Given the description of an element on the screen output the (x, y) to click on. 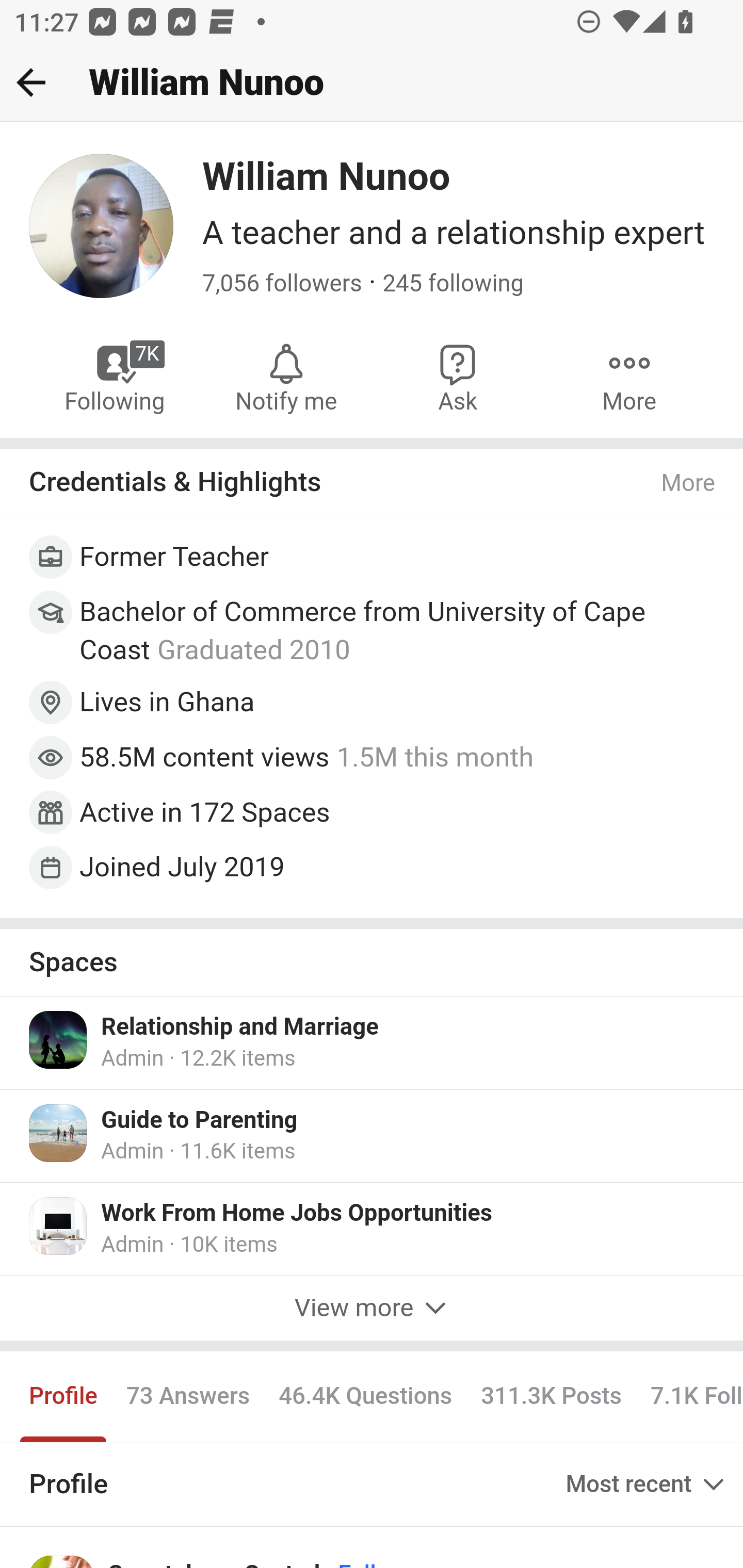
Back (30, 82)
7,056 followers (282, 284)
245 following (452, 284)
Following William Nunoo 7K Following (115, 376)
Notify me (285, 376)
Ask (458, 376)
More (628, 376)
More (688, 482)
Icon for Relationship and Marriage (58, 1039)
Relationship and Marriage (239, 1027)
Icon for Guide to Parenting (58, 1133)
Guide to Parenting (199, 1120)
Icon for Work From Home Jobs Opportunities (58, 1224)
Work From Home Jobs Opportunities (296, 1212)
View more (371, 1308)
Profile (63, 1396)
73 Answers (187, 1396)
46.4K Questions (365, 1396)
311.3K Posts (551, 1396)
7.1K Followers (689, 1396)
Most recent (647, 1484)
